Given the description of an element on the screen output the (x, y) to click on. 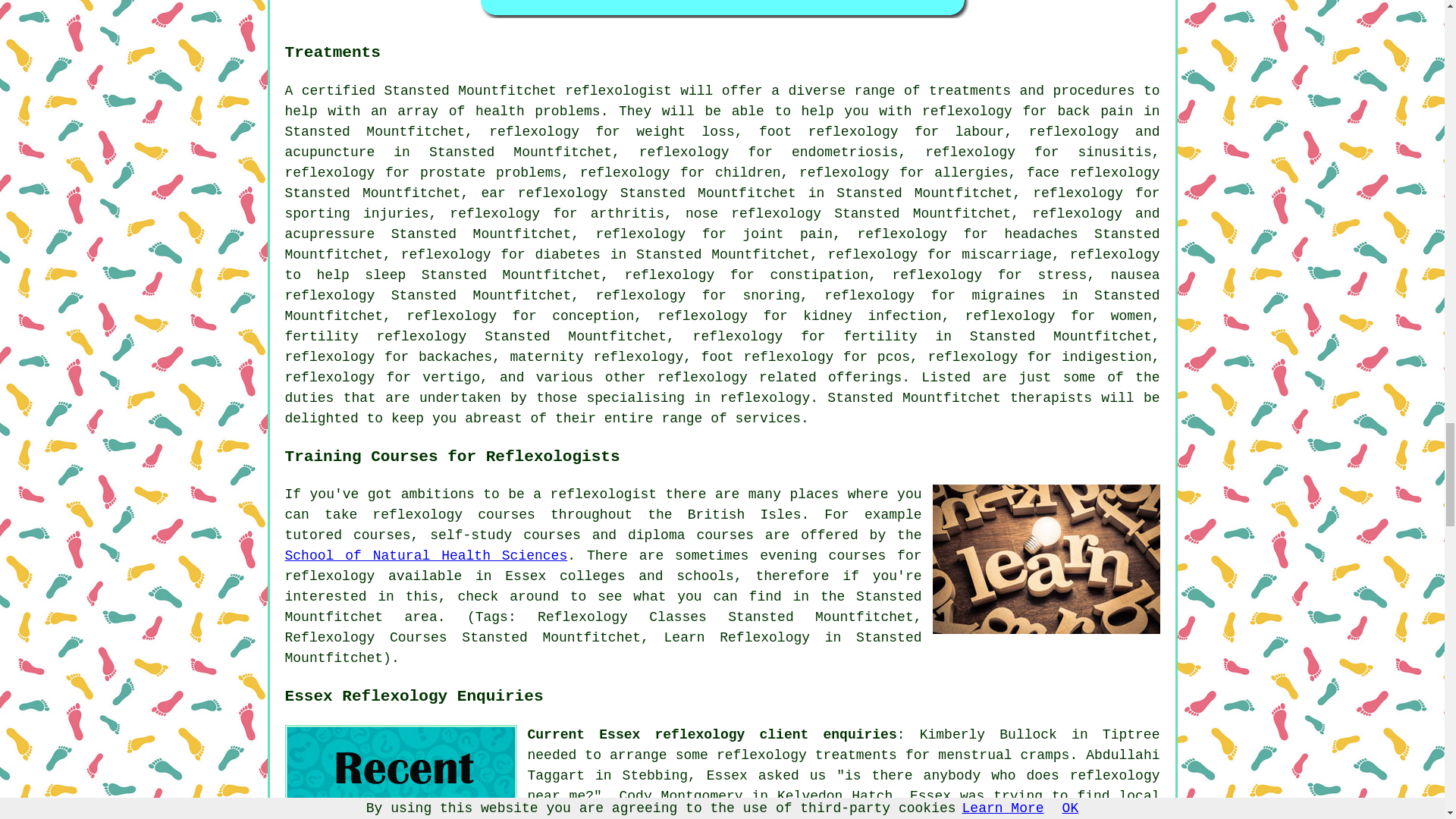
reflexology for weight loss (612, 131)
Book a Reflexologist in Stansted Mountfitchet UK (722, 9)
